Given the description of an element on the screen output the (x, y) to click on. 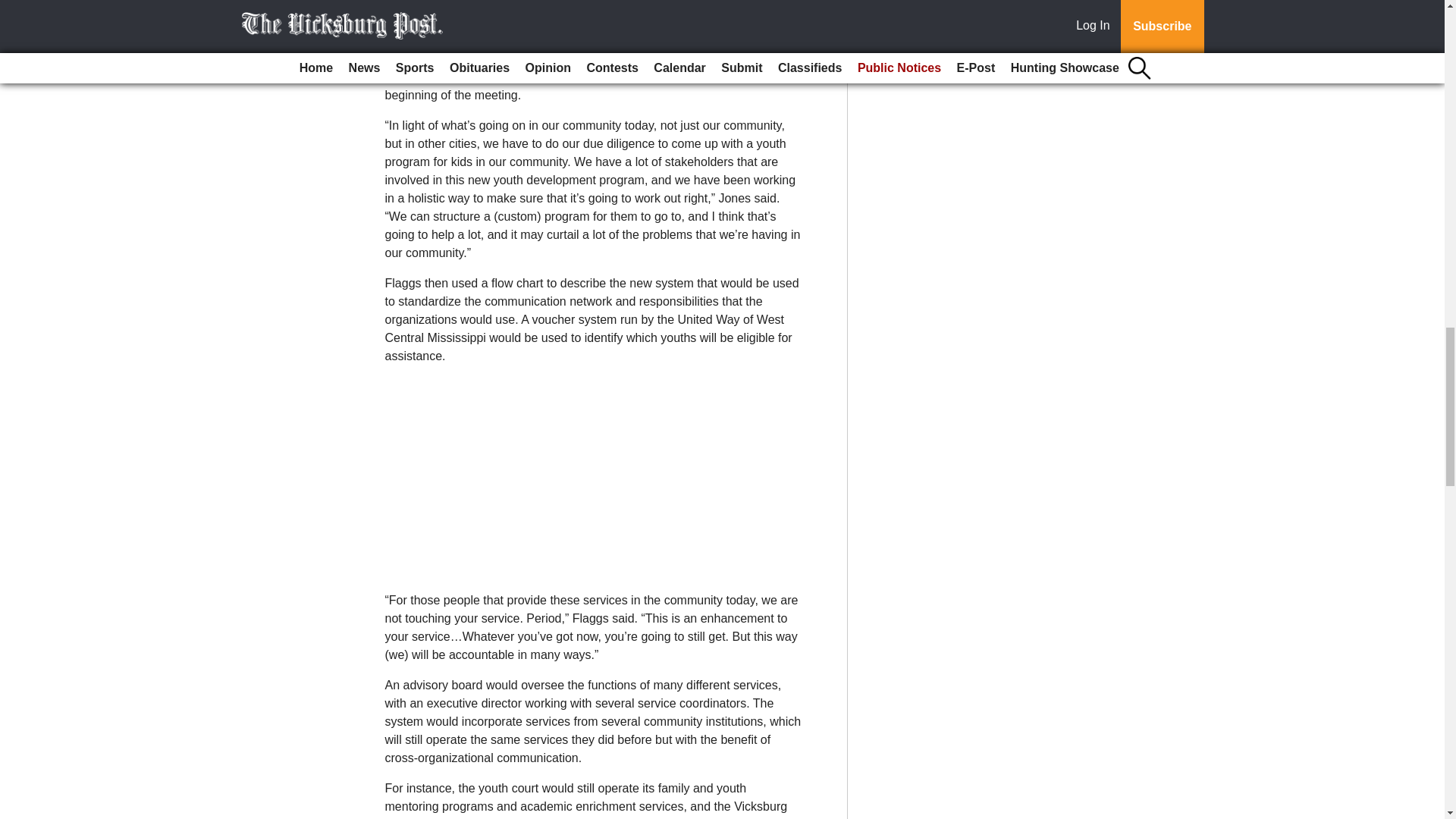
Subscribe (434, 27)
Subscribe (434, 27)
